Given the description of an element on the screen output the (x, y) to click on. 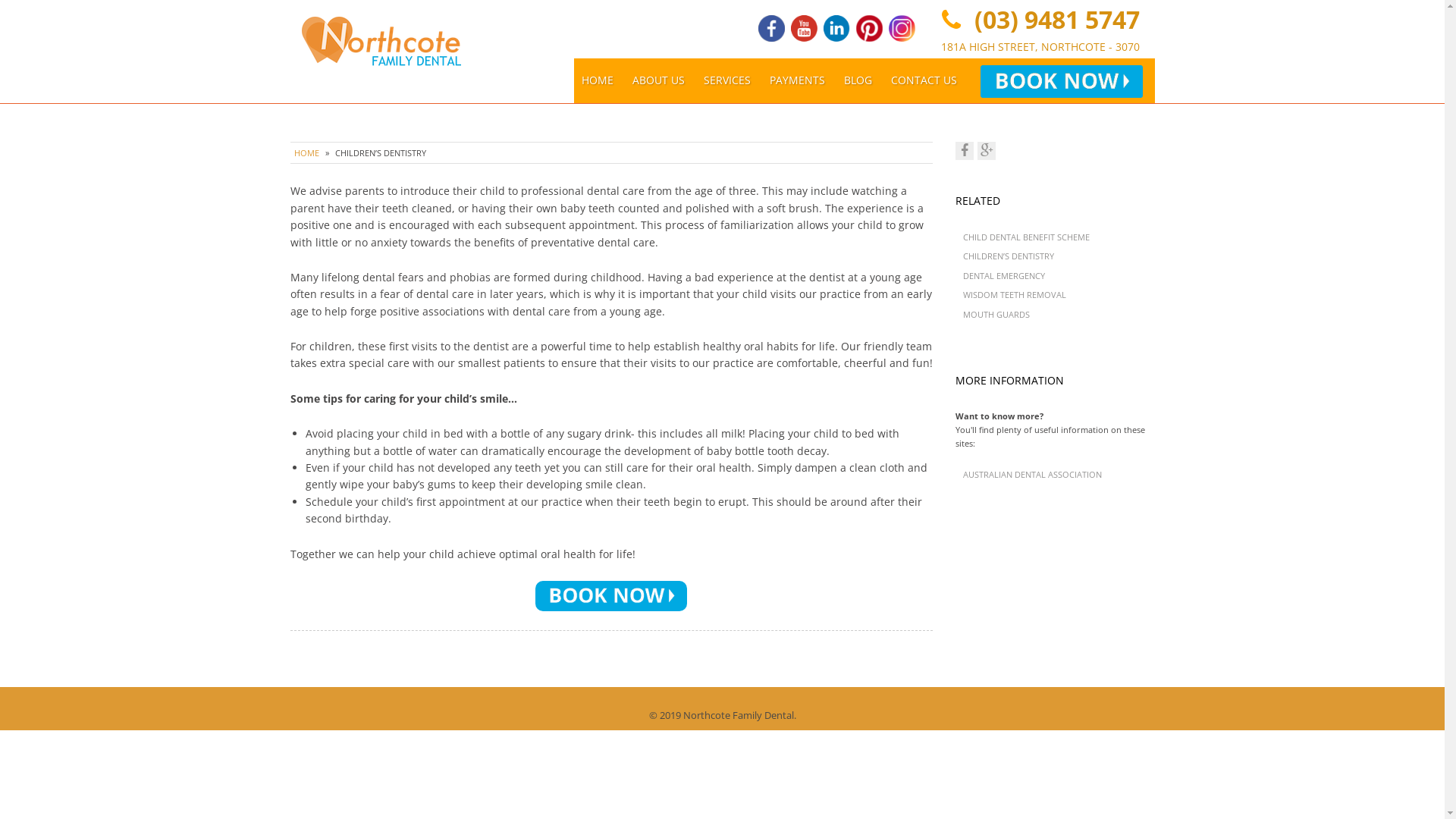
PAYMENTS Element type: text (797, 80)
HOME Element type: text (597, 80)
WISDOM TEETH REMOVAL Element type: text (1014, 294)
CHILD DENTAL BENEFIT SCHEME Element type: text (1026, 236)
HOME Element type: text (306, 152)
ABOUT US Element type: text (658, 80)
181A HIGH STREET, NORTHCOTE - 3070 Element type: text (1039, 46)
(03) 9481 5747 Element type: text (1053, 19)
DENTAL EMERGENCY Element type: text (1003, 275)
MOUTH GUARDS Element type: text (996, 314)
SERVICES Element type: text (727, 80)
BLOG Element type: text (857, 80)
AUSTRALIAN DENTAL ASSOCIATION Element type: text (1032, 474)
CONTACT US Element type: text (923, 80)
